Given the description of an element on the screen output the (x, y) to click on. 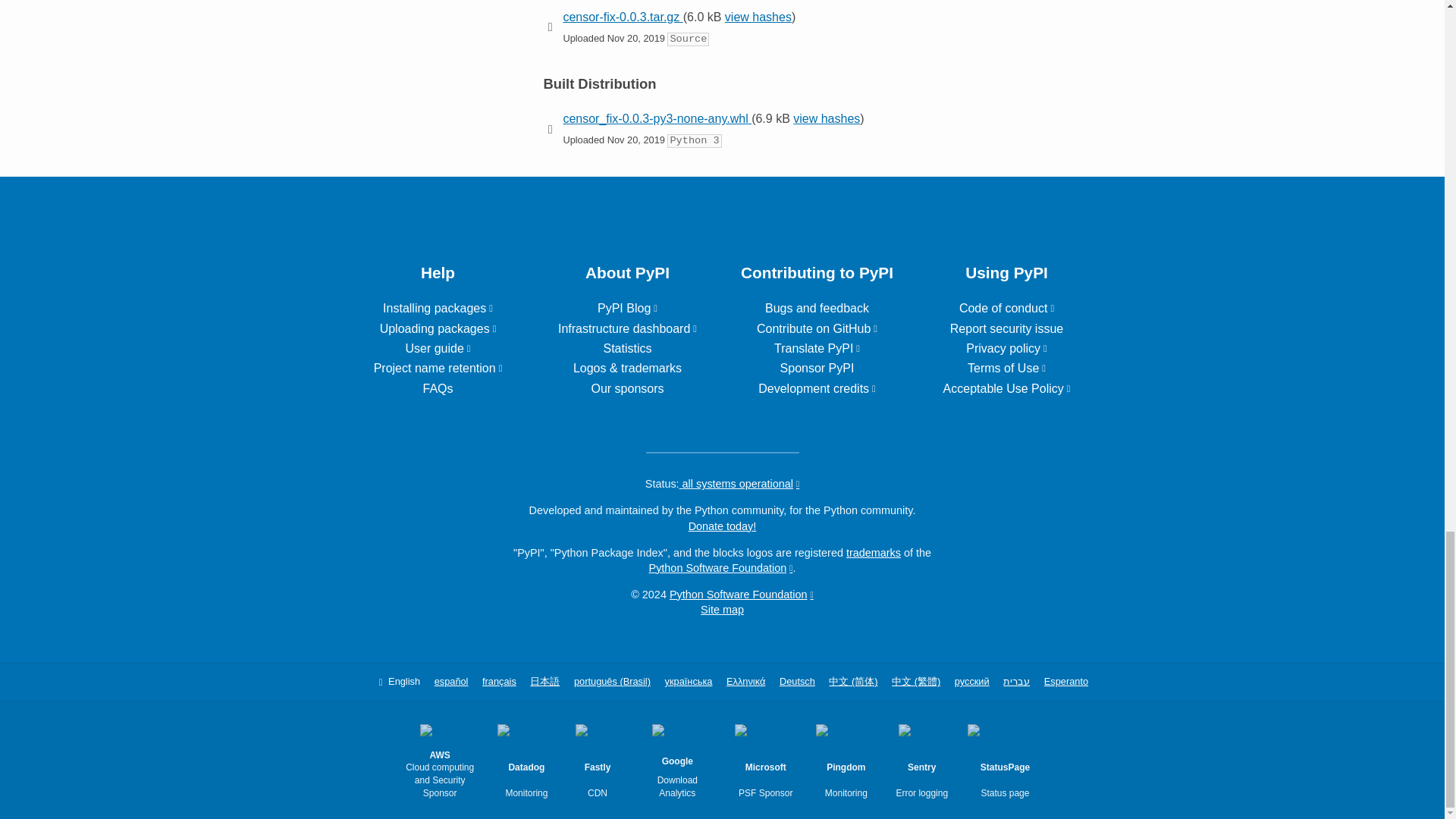
External link (627, 328)
censor-fix-0.0.3.tar.gz (622, 16)
External link (438, 328)
External link (438, 367)
External link (437, 348)
External link (817, 328)
External link (817, 388)
External link (437, 308)
view hashes (758, 16)
External link (817, 348)
